Given the description of an element on the screen output the (x, y) to click on. 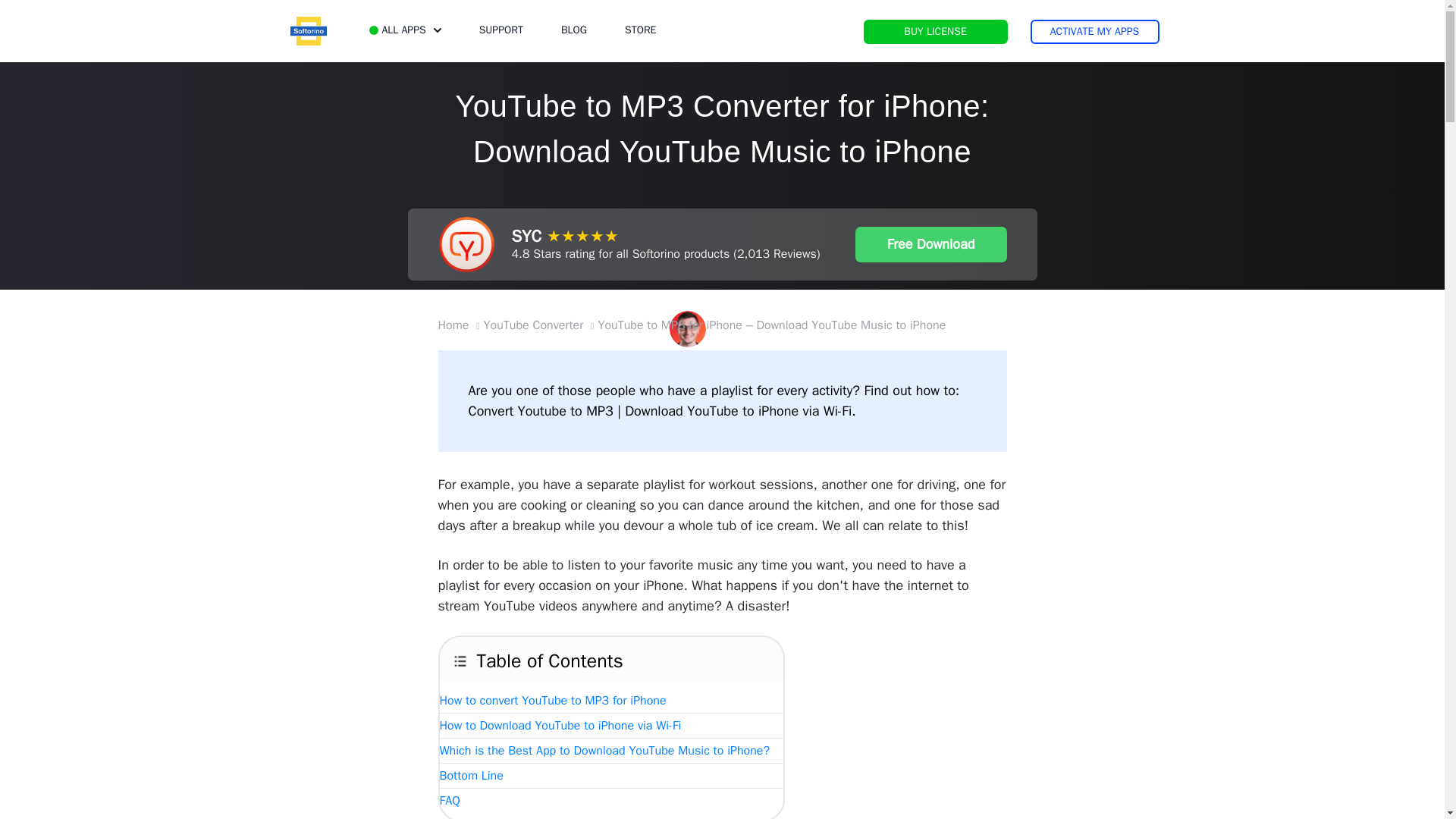
STORE (640, 29)
SUPPORT (500, 29)
Home (453, 324)
BLOG (573, 29)
YouTube Converter (533, 324)
BUY LICENSE (935, 31)
ALL APPS (404, 29)
Josh Brown (746, 318)
Free Download (931, 244)
ACTIVATE MY APPS (1093, 31)
